Given the description of an element on the screen output the (x, y) to click on. 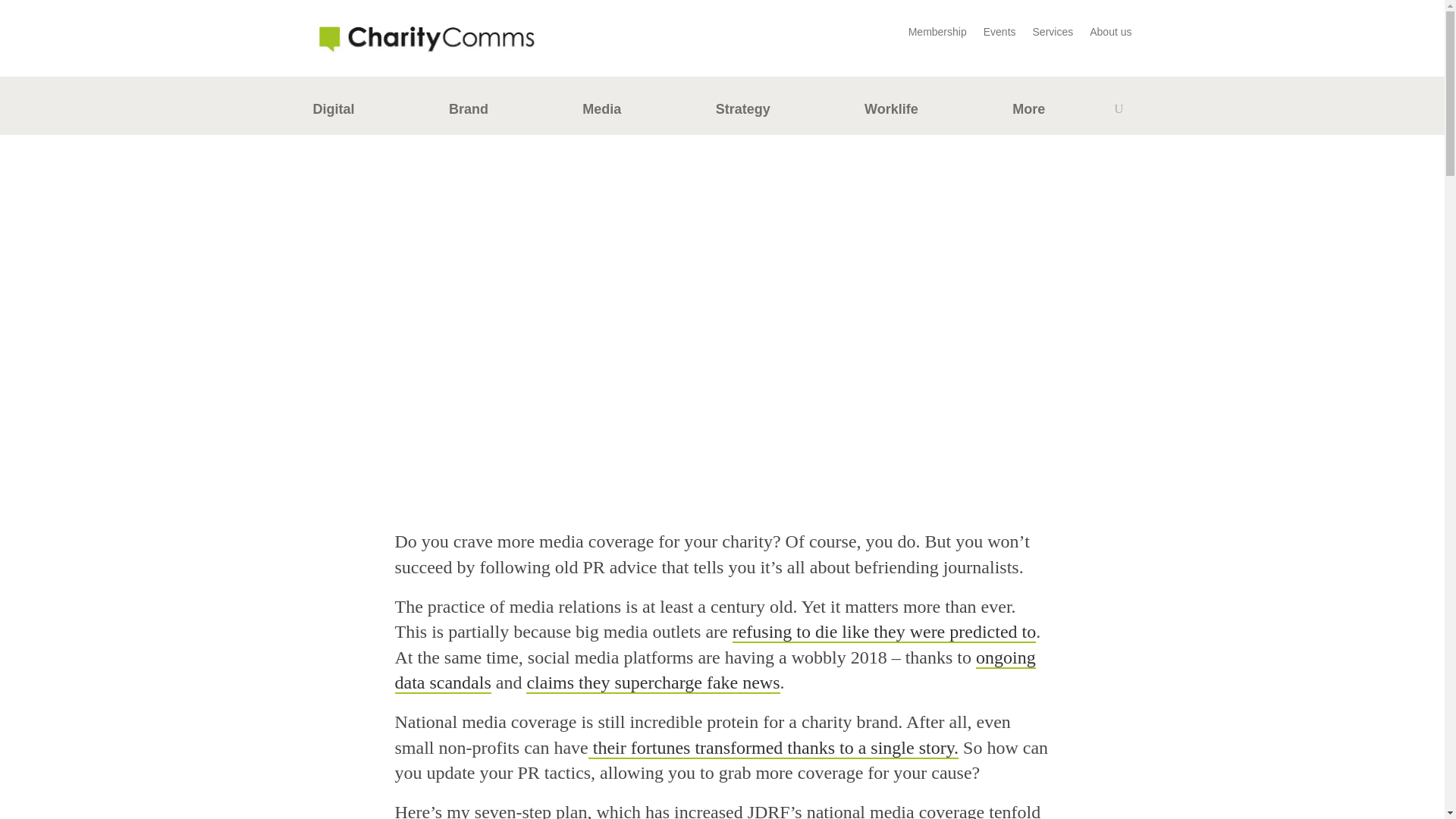
Strategy (743, 112)
Worklife (891, 112)
Services (1053, 34)
More (1028, 112)
Digital (333, 112)
About us (1110, 34)
Brand (467, 112)
Events (1000, 34)
Media (601, 112)
Membership (937, 34)
